Given the description of an element on the screen output the (x, y) to click on. 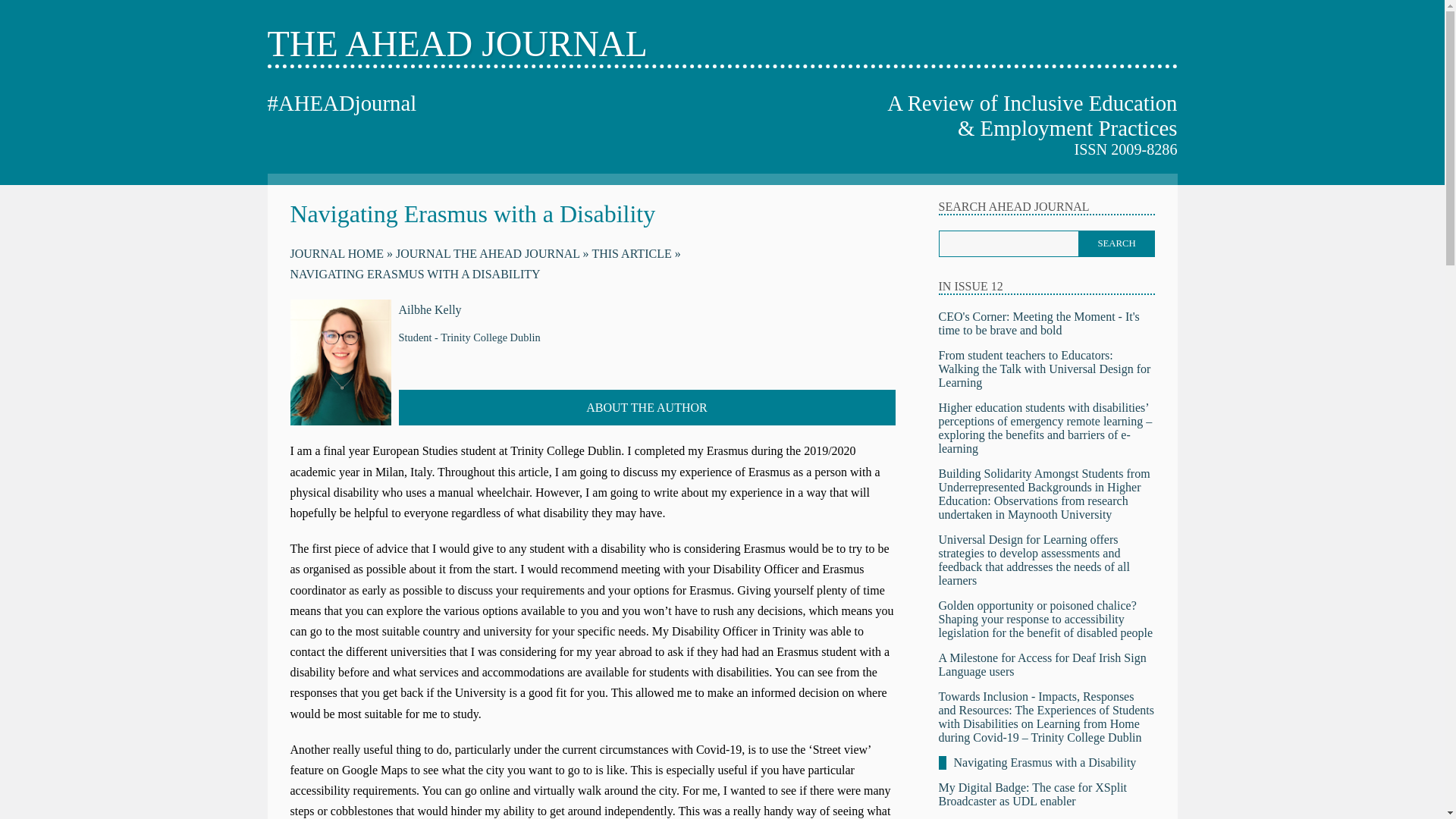
JOURNAL HOME (340, 253)
THIS ARTICLE (635, 253)
Search (1116, 243)
A Milestone for Access for Deaf Irish Sign Language users (1043, 664)
JOURNAL THE AHEAD JOURNAL (492, 253)
NAVIGATING ERASMUS WITH A DISABILITY (414, 273)
